Given the description of an element on the screen output the (x, y) to click on. 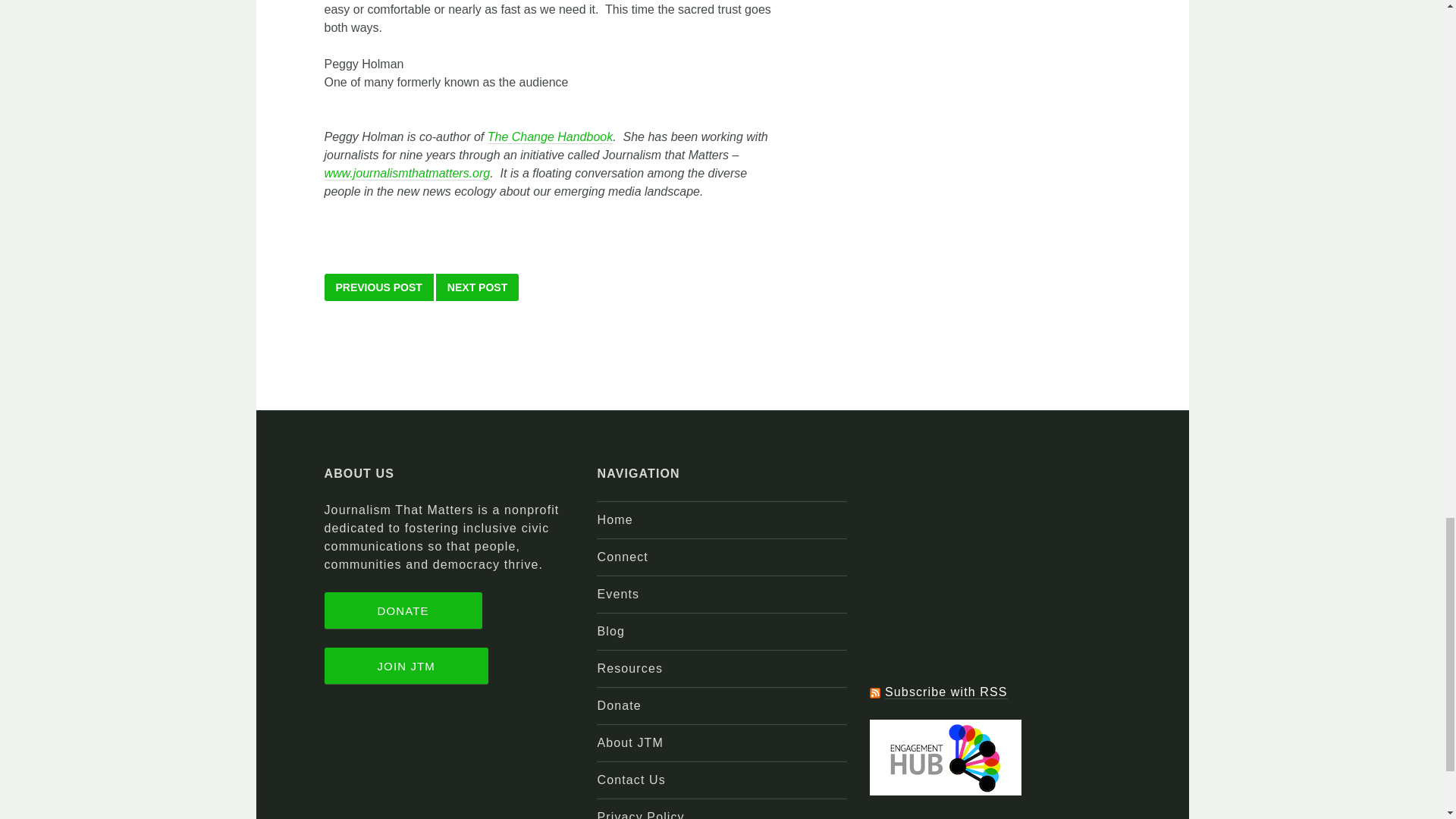
Subscribe with RSS (946, 692)
Donate (618, 705)
Twitter Follow Button (994, 652)
Privacy Policy (640, 814)
The Change Handbook (549, 137)
Events (617, 594)
JOIN JTM (405, 665)
Resources (629, 667)
PREVIOUS POST (378, 287)
Blog (610, 631)
Connect (621, 556)
Home (613, 519)
The Change Handbook (549, 137)
NEXT POST (476, 287)
DONATE (402, 610)
